Given the description of an element on the screen output the (x, y) to click on. 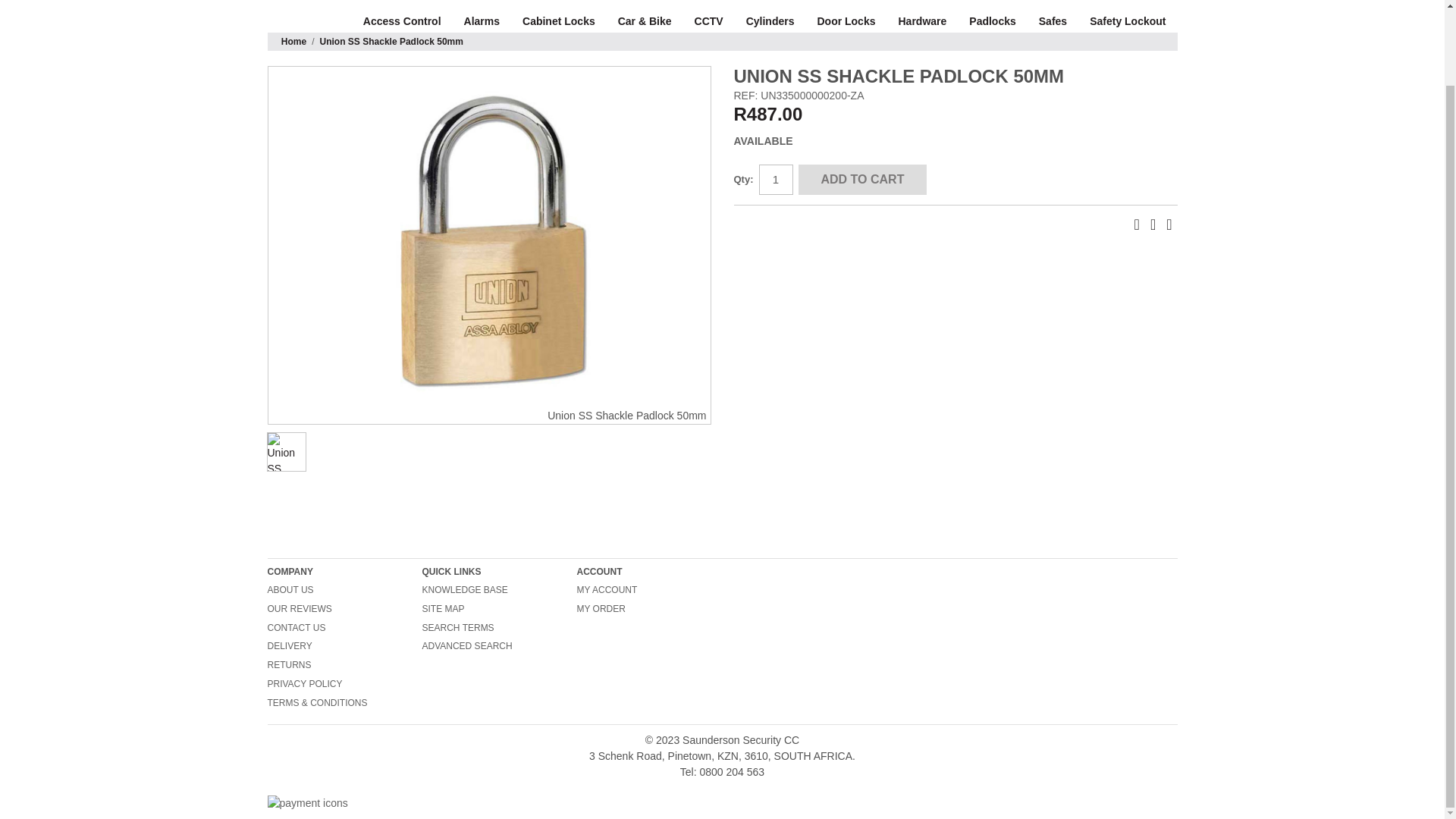
Union SS Shackle Padlock 50mm (488, 236)
1 (775, 179)
Go to Home Page (293, 41)
Alarms (481, 20)
Union SS Shackle Padlock 50mm (285, 451)
Add to Cart (861, 179)
Access Control (402, 20)
Qty (775, 179)
Cabinet Locks (559, 20)
